Given the description of an element on the screen output the (x, y) to click on. 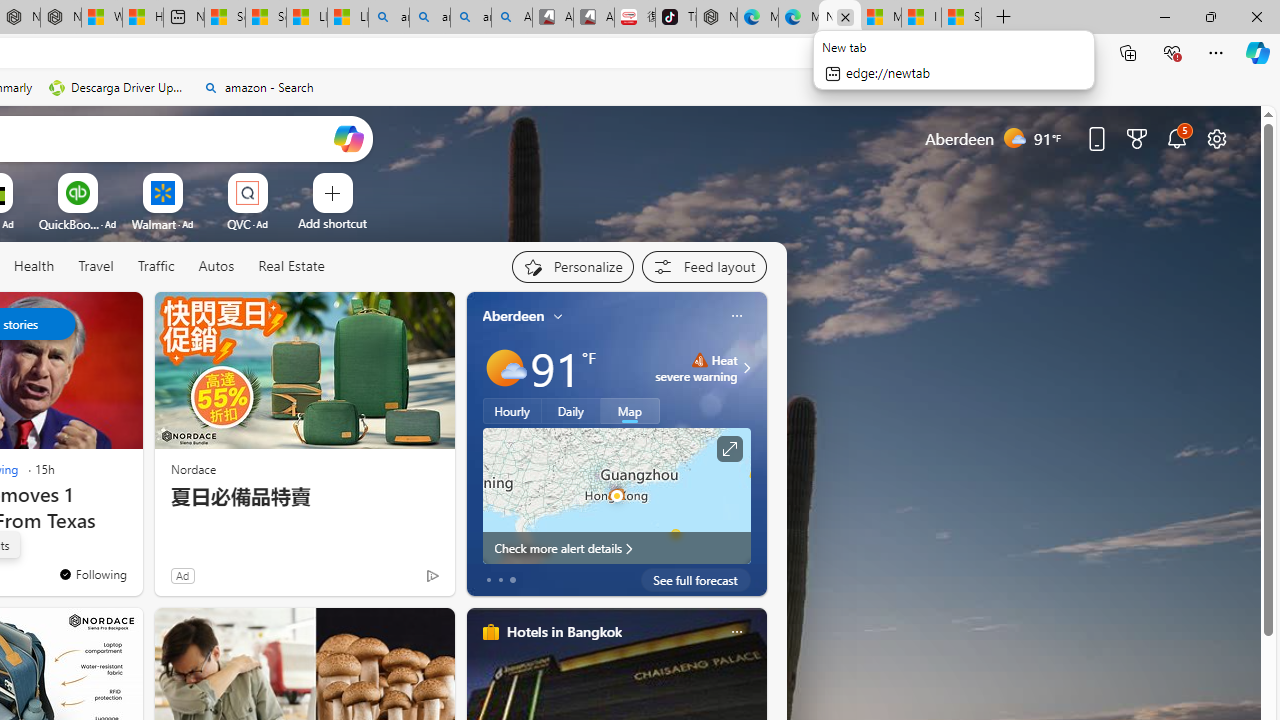
Class: icon-img (736, 632)
Larger map  (616, 495)
Autos (216, 267)
TikTok (675, 17)
New Tab (1003, 17)
Hourly (511, 411)
Traffic (155, 267)
Close tab (845, 16)
Check more alert details (616, 547)
Restore (1210, 16)
Heat - Severe (699, 359)
Click to see more information (728, 449)
